Given the description of an element on the screen output the (x, y) to click on. 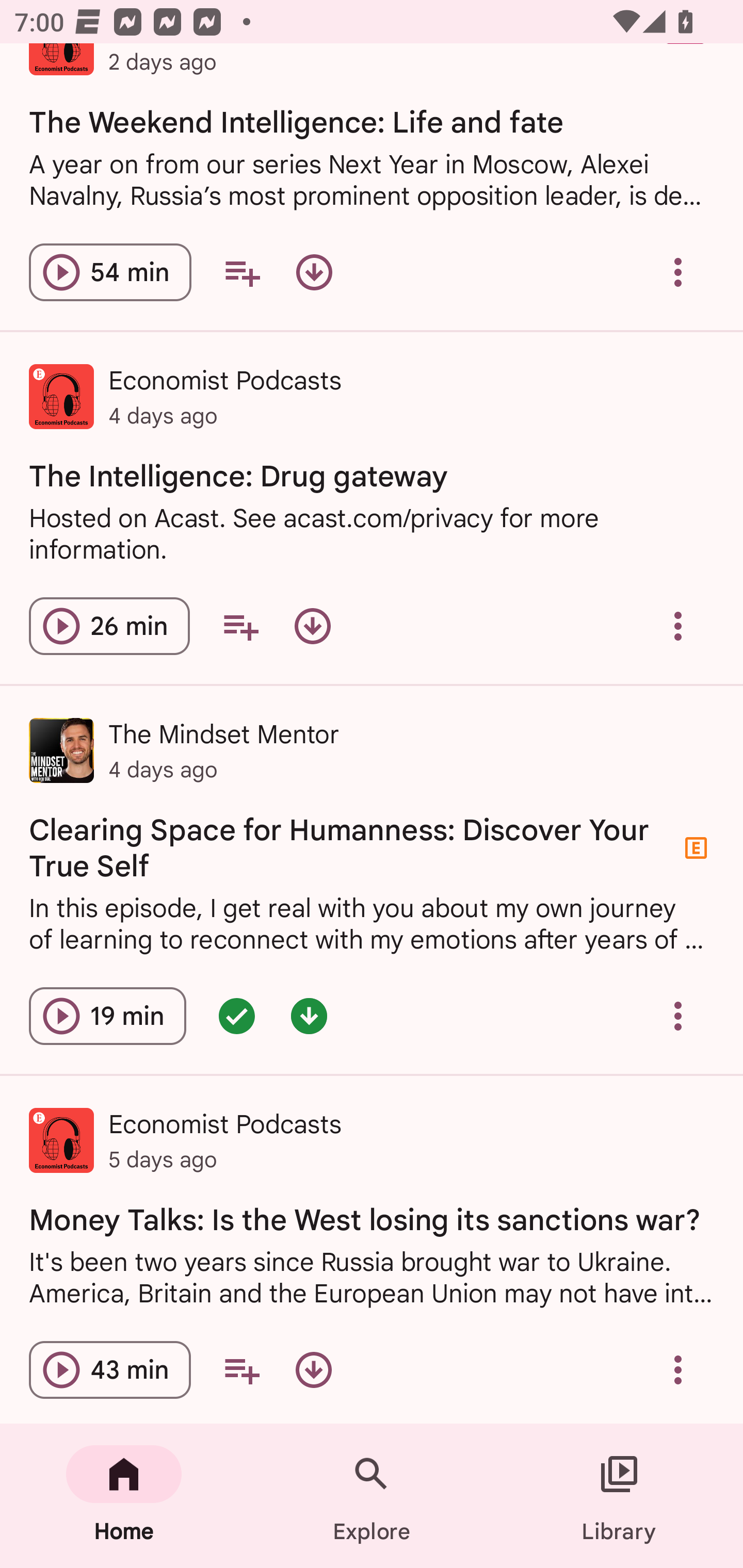
Add to your queue (241, 271)
Download episode (313, 271)
Overflow menu (677, 271)
Play episode The Intelligence: Drug gateway 26 min (109, 626)
Add to your queue (240, 626)
Download episode (312, 626)
Overflow menu (677, 626)
Episode queued - double tap for options (236, 1015)
Episode downloaded - double tap for options 0.0 (308, 1015)
Overflow menu (677, 1015)
Add to your queue (241, 1369)
Download episode (313, 1369)
Overflow menu (677, 1369)
Explore (371, 1495)
Library (619, 1495)
